Given the description of an element on the screen output the (x, y) to click on. 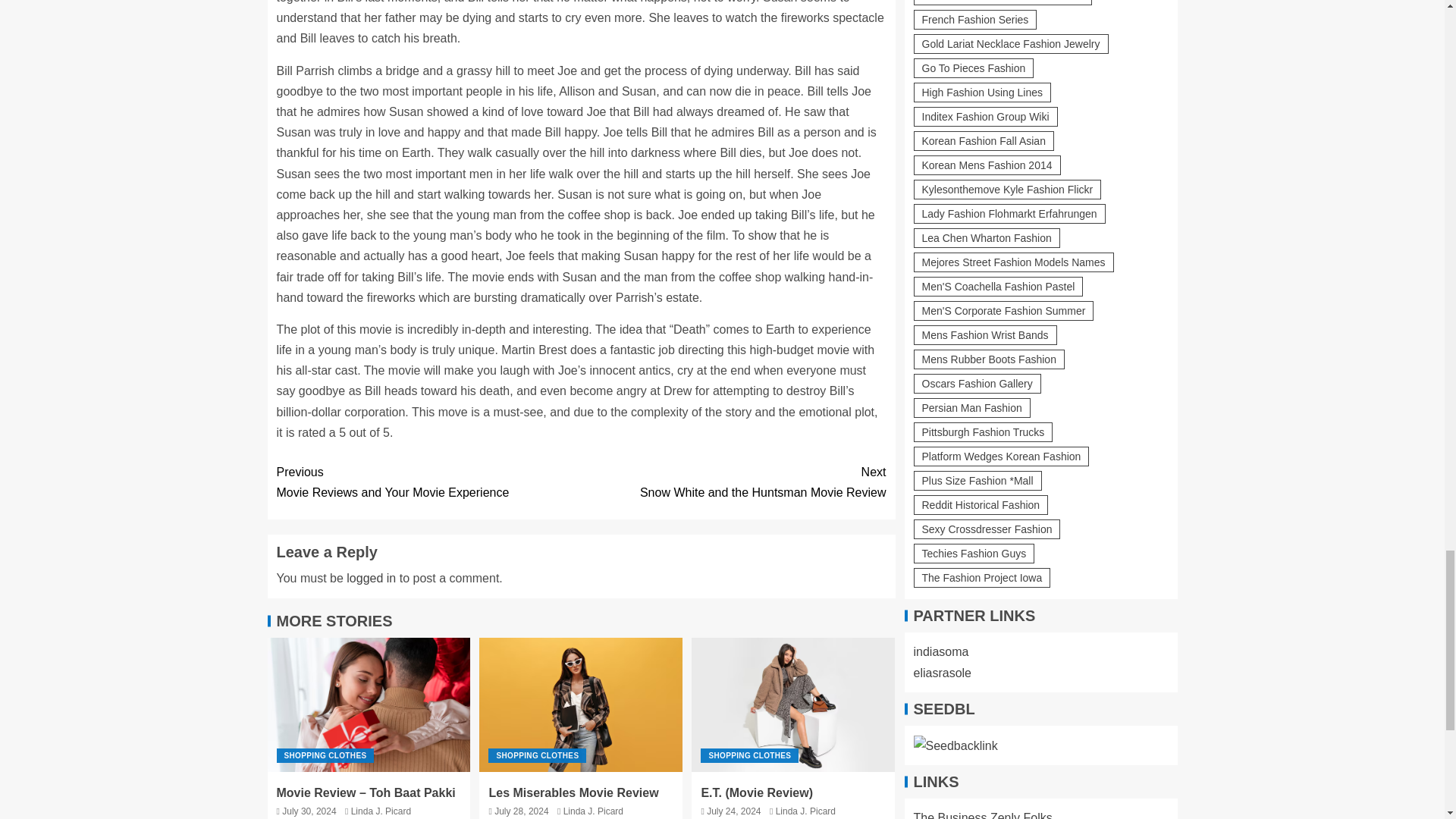
SHOPPING CLOTHES (428, 481)
Linda J. Picard (325, 755)
Linda J. Picard (805, 810)
Linda J. Picard (380, 810)
SHOPPING CLOTHES (593, 810)
SHOPPING CLOTHES (536, 755)
Les Miserables Movie Review (748, 755)
Les Miserables Movie Review (580, 705)
